Given the description of an element on the screen output the (x, y) to click on. 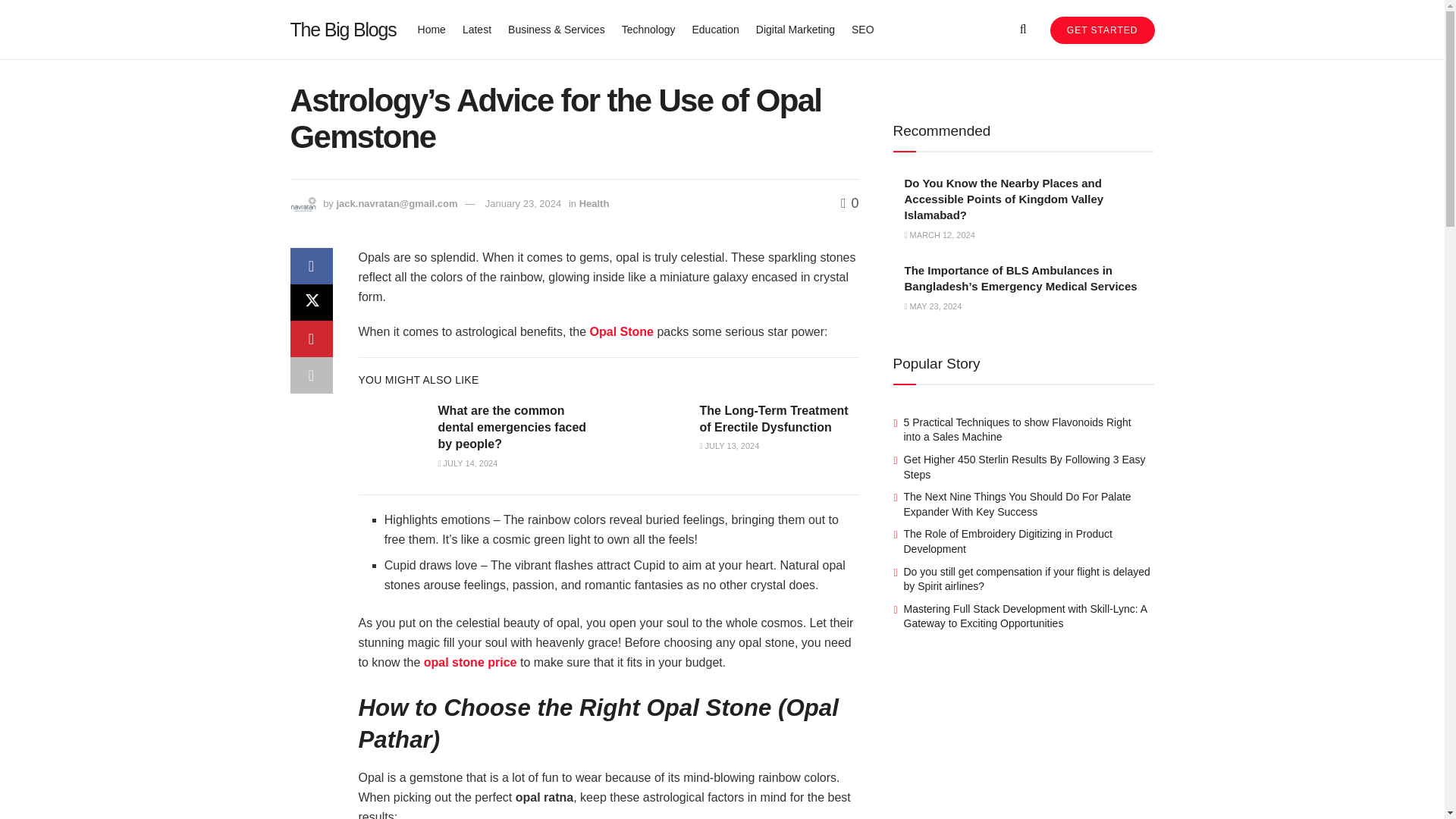
JULY 14, 2024 (467, 462)
Digital Marketing (794, 29)
0 (850, 202)
SEO (863, 29)
Opal Stone (621, 331)
GET STARTED (1101, 30)
Health (594, 203)
Education (714, 29)
Home (431, 29)
January 23, 2024 (522, 203)
The Big Blogs (342, 28)
Technology (648, 29)
What are the common dental emergencies faced by people? (512, 427)
Latest (477, 29)
